Given the description of an element on the screen output the (x, y) to click on. 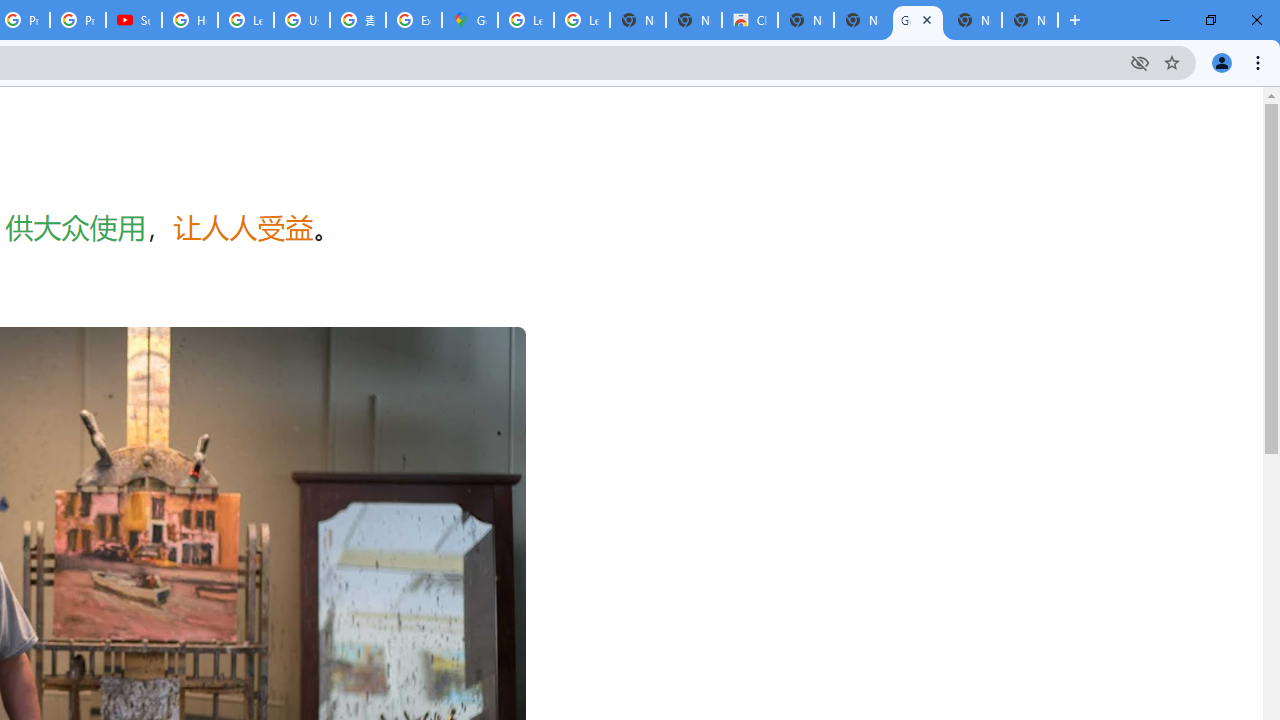
Chrome Web Store (749, 20)
New Tab (1030, 20)
Google Maps (469, 20)
How Chrome protects your passwords - Google Chrome Help (189, 20)
